Given the description of an element on the screen output the (x, y) to click on. 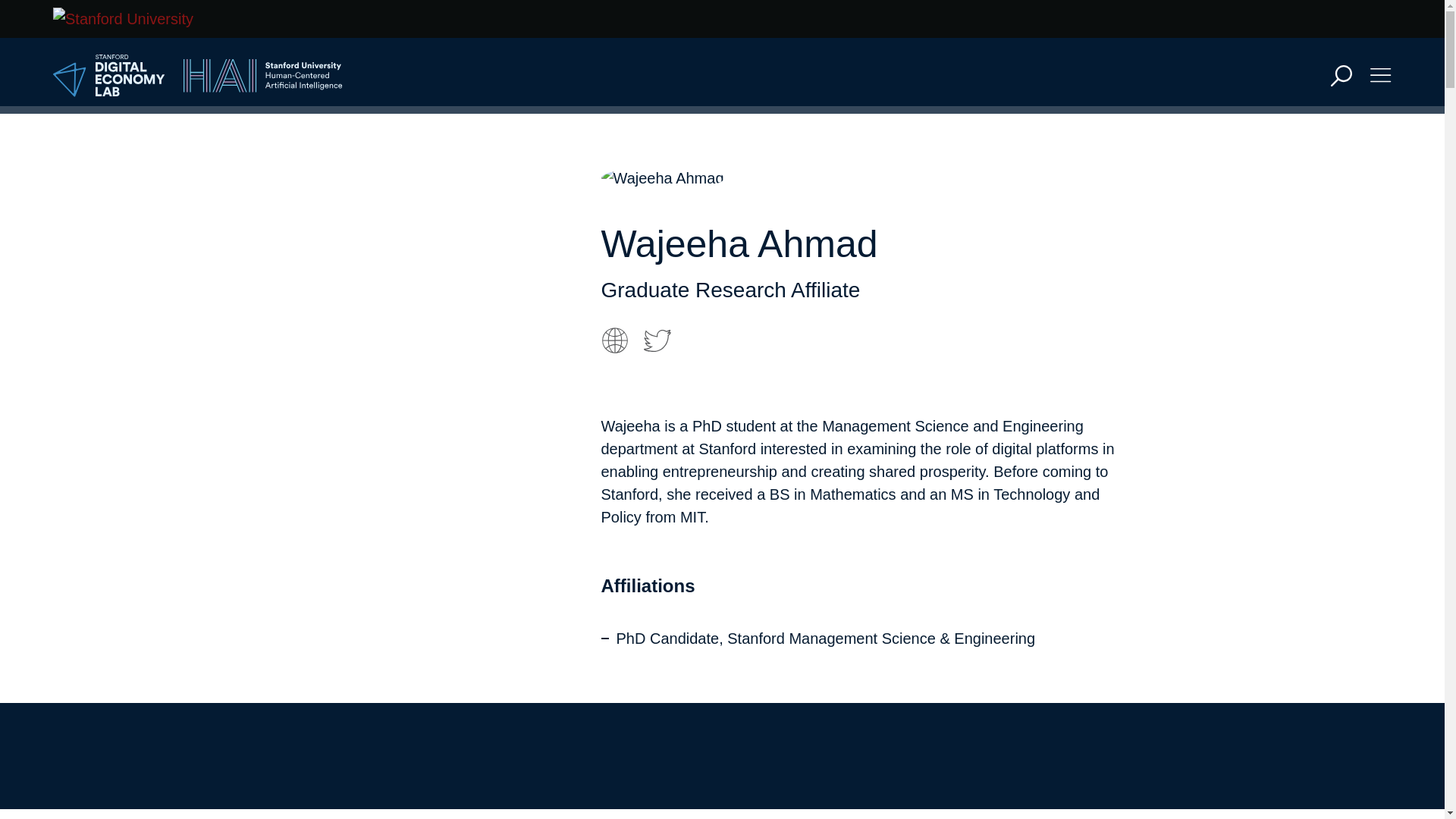
Digital Economy Lab (108, 75)
twitter (656, 339)
HAI (262, 75)
website (613, 339)
Back to People (670, 735)
